Given the description of an element on the screen output the (x, y) to click on. 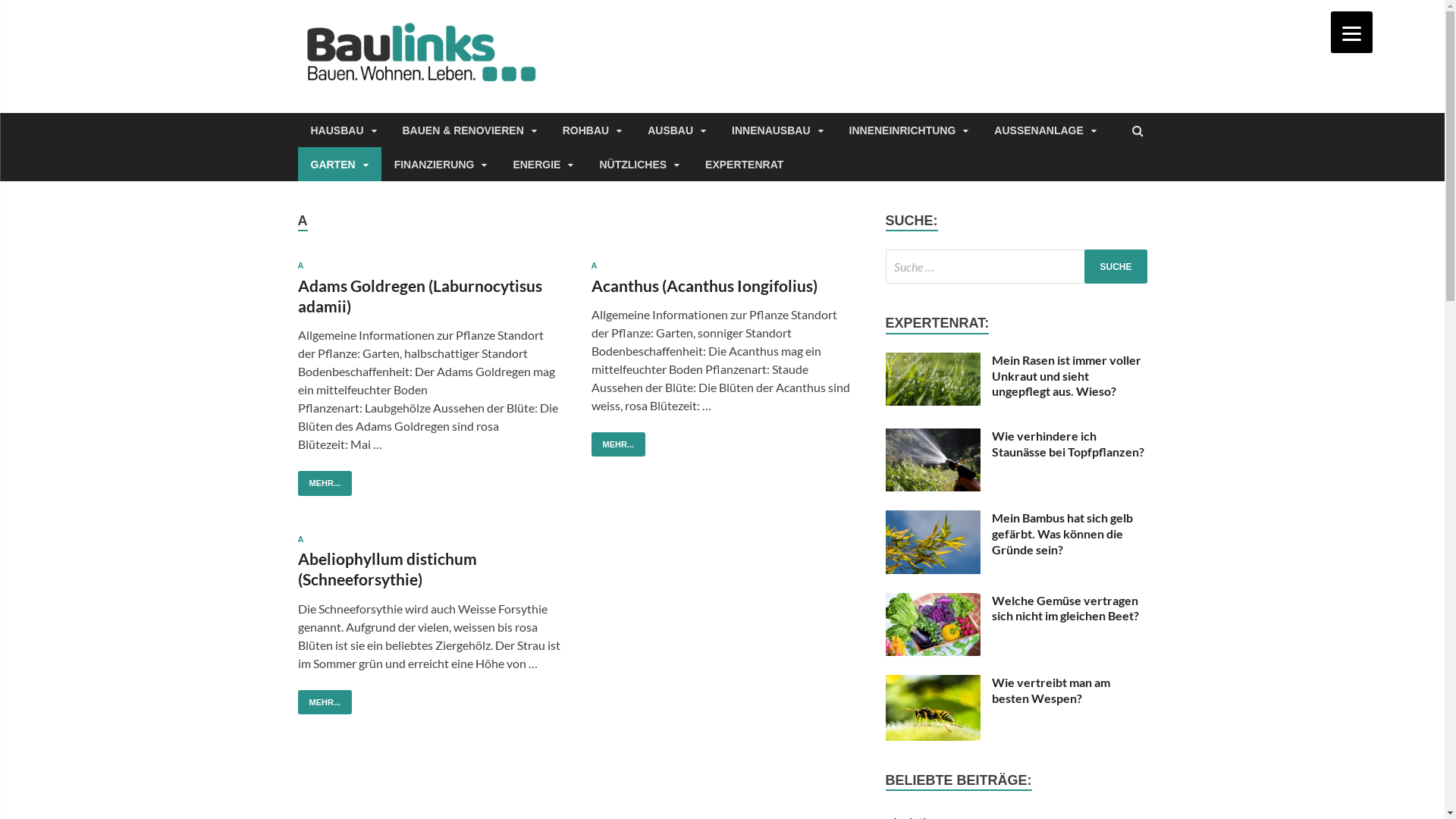
ENERGIE Element type: text (542, 164)
Adams Goldregen (Laburnocytisus adamii) Element type: text (419, 295)
ROHBAU Element type: text (591, 129)
A Element type: text (300, 538)
MEHR... Element type: text (324, 702)
INNENAUSBAU Element type: text (776, 129)
AUSSENANLAGE Element type: text (1044, 129)
Baulinks.ch Element type: text (638, 51)
BAUEN & RENOVIEREN Element type: text (469, 129)
Abeliophyllum distichum (Schneeforsythie) Element type: text (386, 568)
MEHR... Element type: text (324, 482)
A Element type: text (594, 264)
EXPERTENRAT Element type: text (744, 164)
Wie vertreibt man am besten Wespen? Element type: hover (932, 683)
Suche Element type: text (1115, 266)
GARTEN Element type: text (338, 164)
MEHR... Element type: text (618, 444)
Acanthus (Acanthus Iongifolius) Element type: text (704, 285)
FINANZIERUNG Element type: text (440, 164)
AUSBAU Element type: text (676, 129)
A Element type: text (300, 264)
INNENEINRICHTUNG Element type: text (909, 129)
HAUSBAU Element type: text (343, 129)
Wie vertreibt man am besten Wespen? Element type: text (1050, 689)
